Given the description of an element on the screen output the (x, y) to click on. 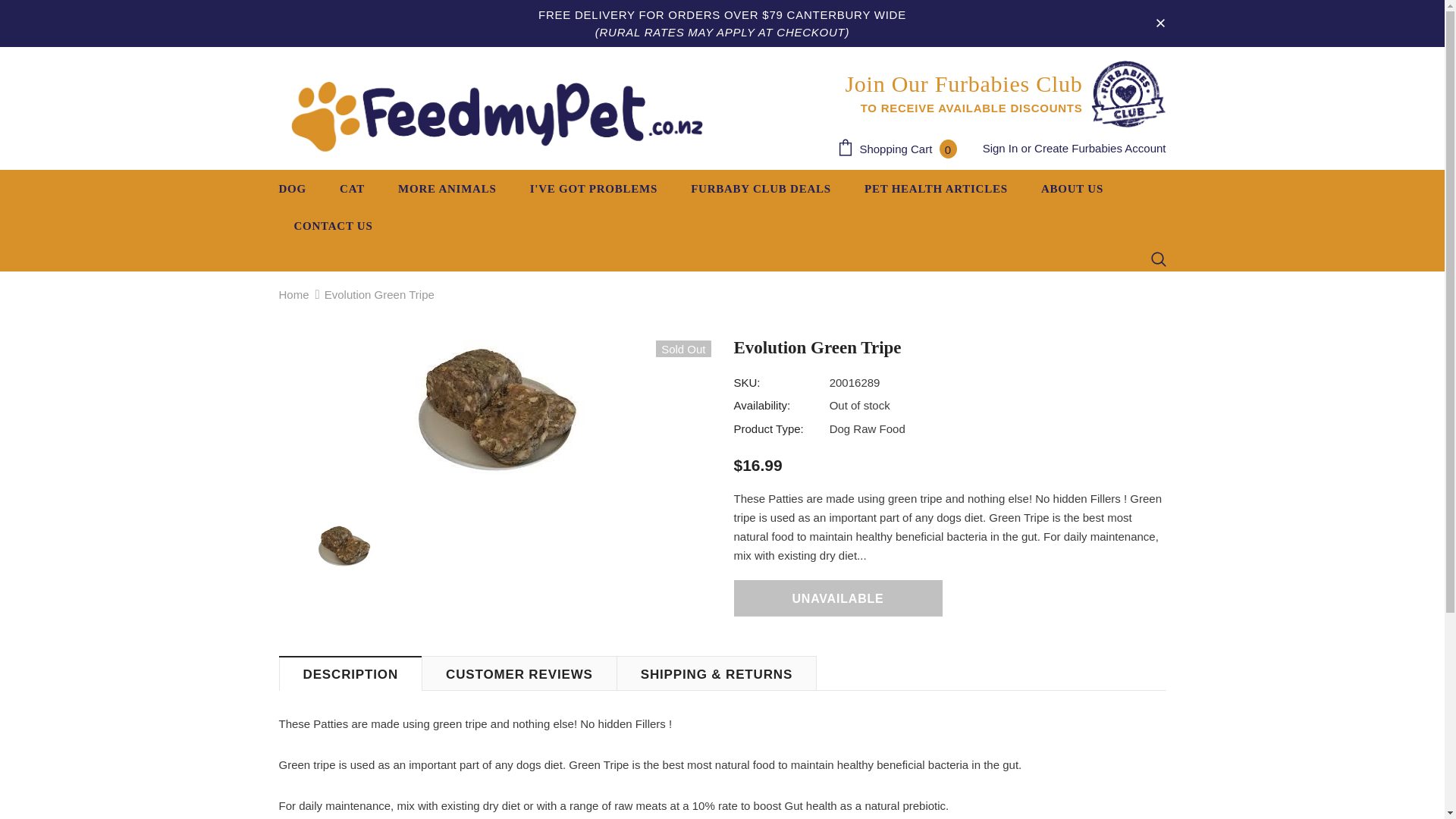
Unavailable (837, 597)
Create Furbabies Account (1001, 93)
Shopping Cart 0 (1099, 147)
close (900, 149)
Search Icon (1160, 22)
Logo (1158, 258)
Cart (496, 114)
Sign In (900, 149)
